Given the description of an element on the screen output the (x, y) to click on. 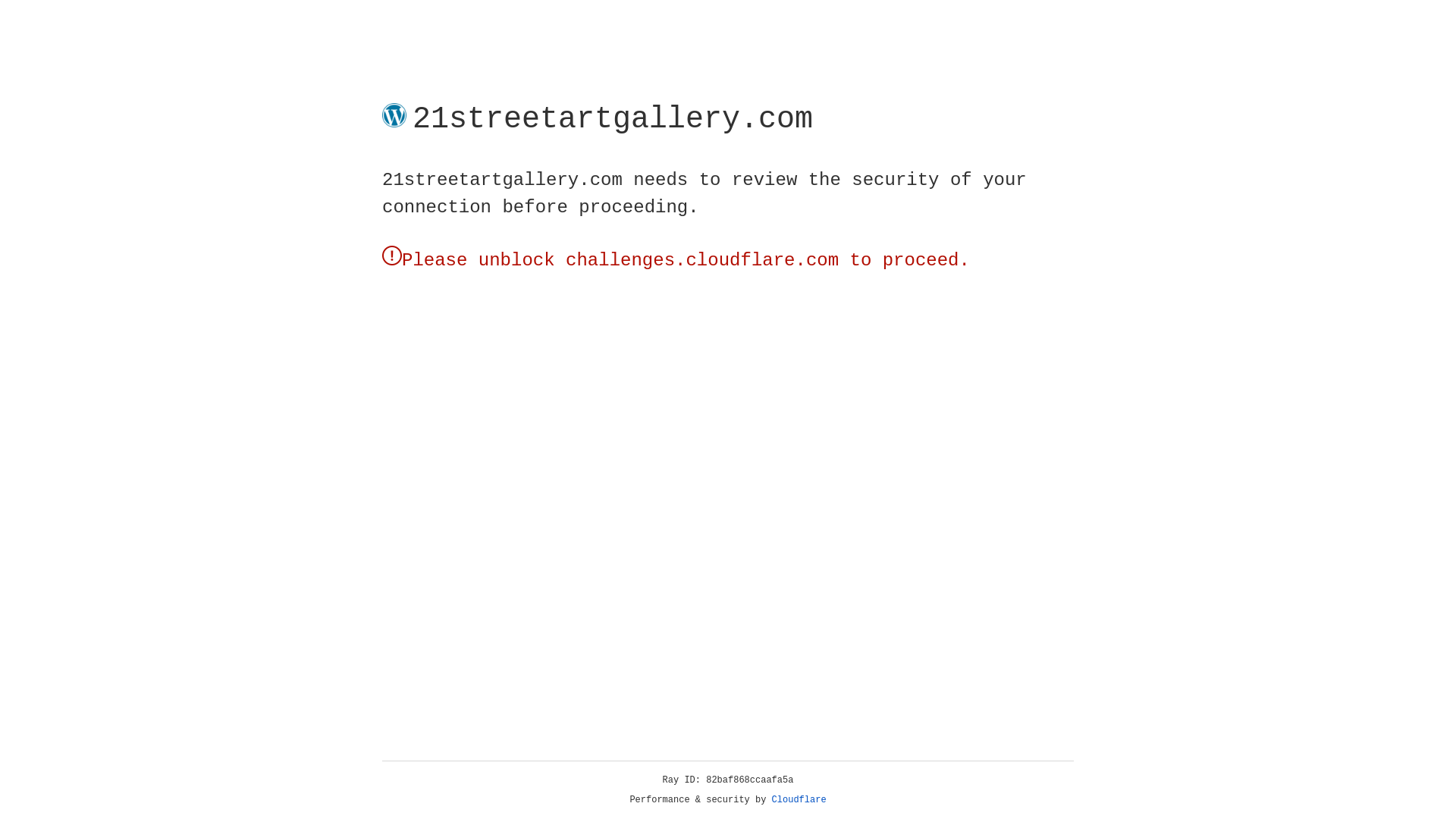
Cloudflare Element type: text (165, 146)
